Given the description of an element on the screen output the (x, y) to click on. 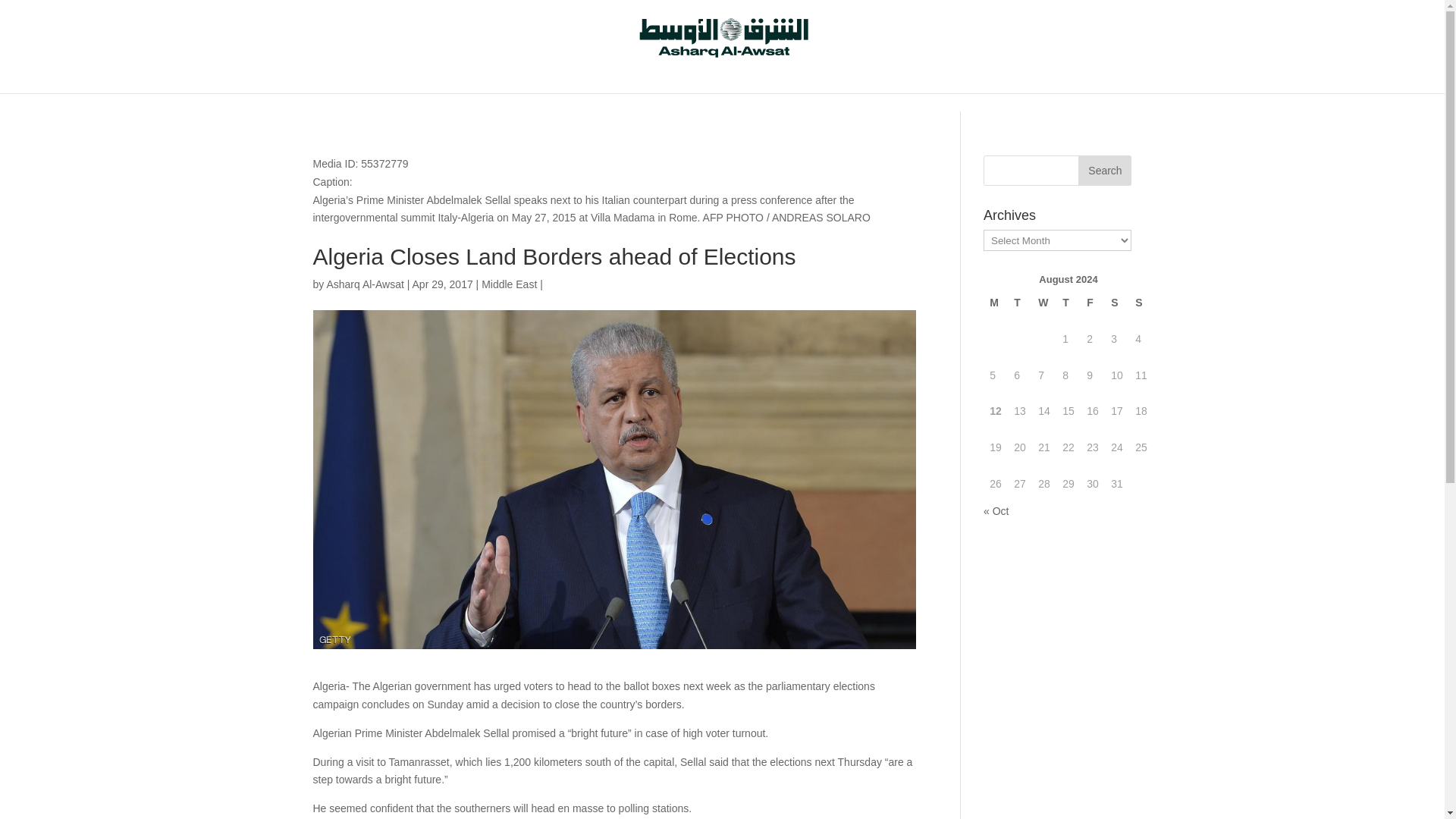
Search (1104, 170)
Middle East (509, 284)
Asharq Al-Awsat (364, 284)
Posts by Asharq Al-Awsat (364, 284)
Search (1104, 170)
